Given the description of an element on the screen output the (x, y) to click on. 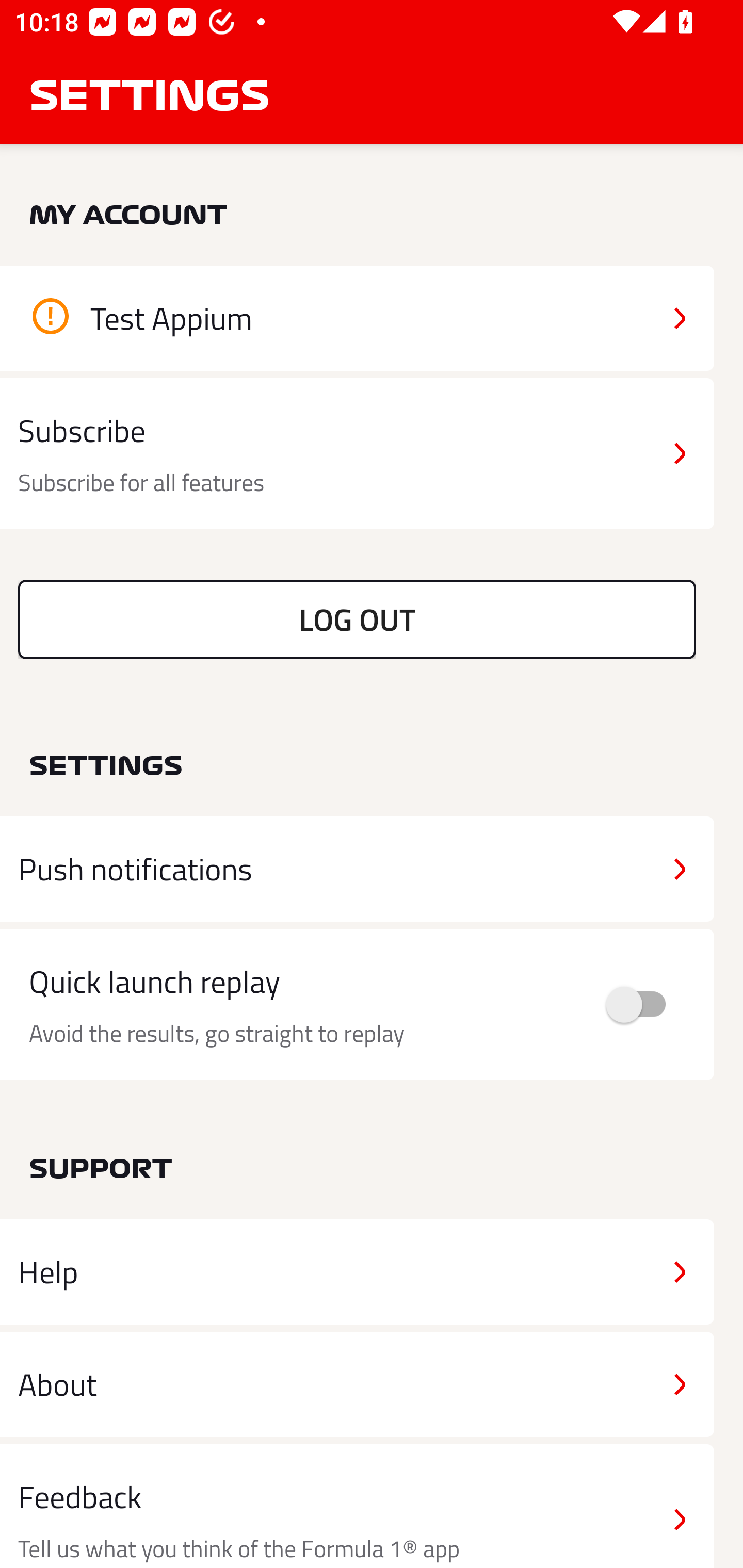
Test Appium (357, 317)
Subscribe Subscribe for all features (357, 453)
LOG OUT (356, 619)
Push notifications (357, 868)
Help (357, 1271)
About (357, 1383)
